Given the description of an element on the screen output the (x, y) to click on. 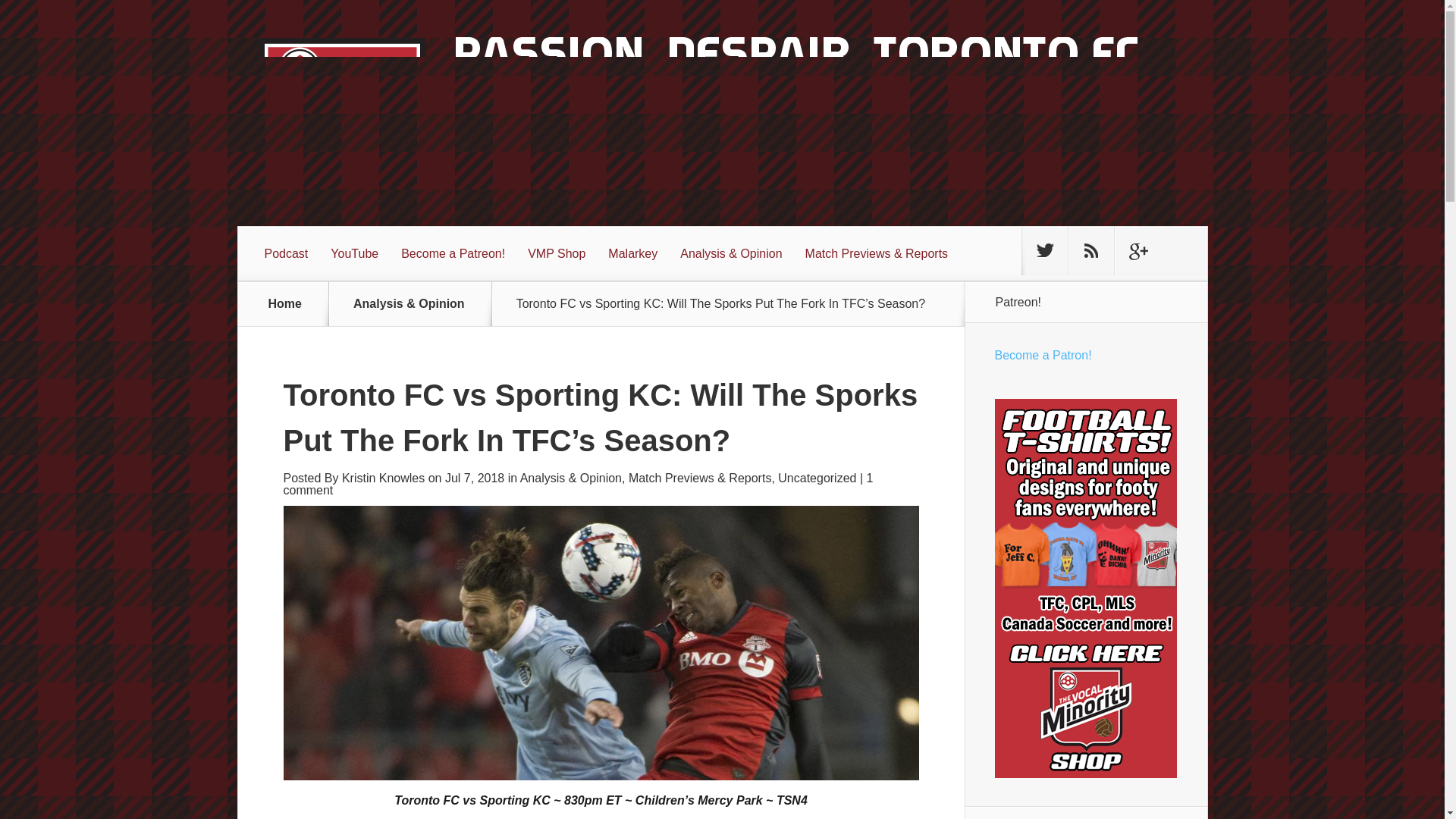
Follow us on Twitter (1044, 250)
Kristin Knowles (383, 477)
1 comment (578, 483)
T-shirts and other less formal attire (556, 253)
YouTube (354, 253)
Malarkey (632, 253)
Podcast (286, 253)
Become a Patron! (1043, 354)
Home (285, 303)
Subscribe To Rss Feed (1090, 250)
Uncategorized (816, 477)
Become a Patreon! (453, 253)
Posts by Kristin Knowles (383, 477)
VMP Shop (556, 253)
